Given the description of an element on the screen output the (x, y) to click on. 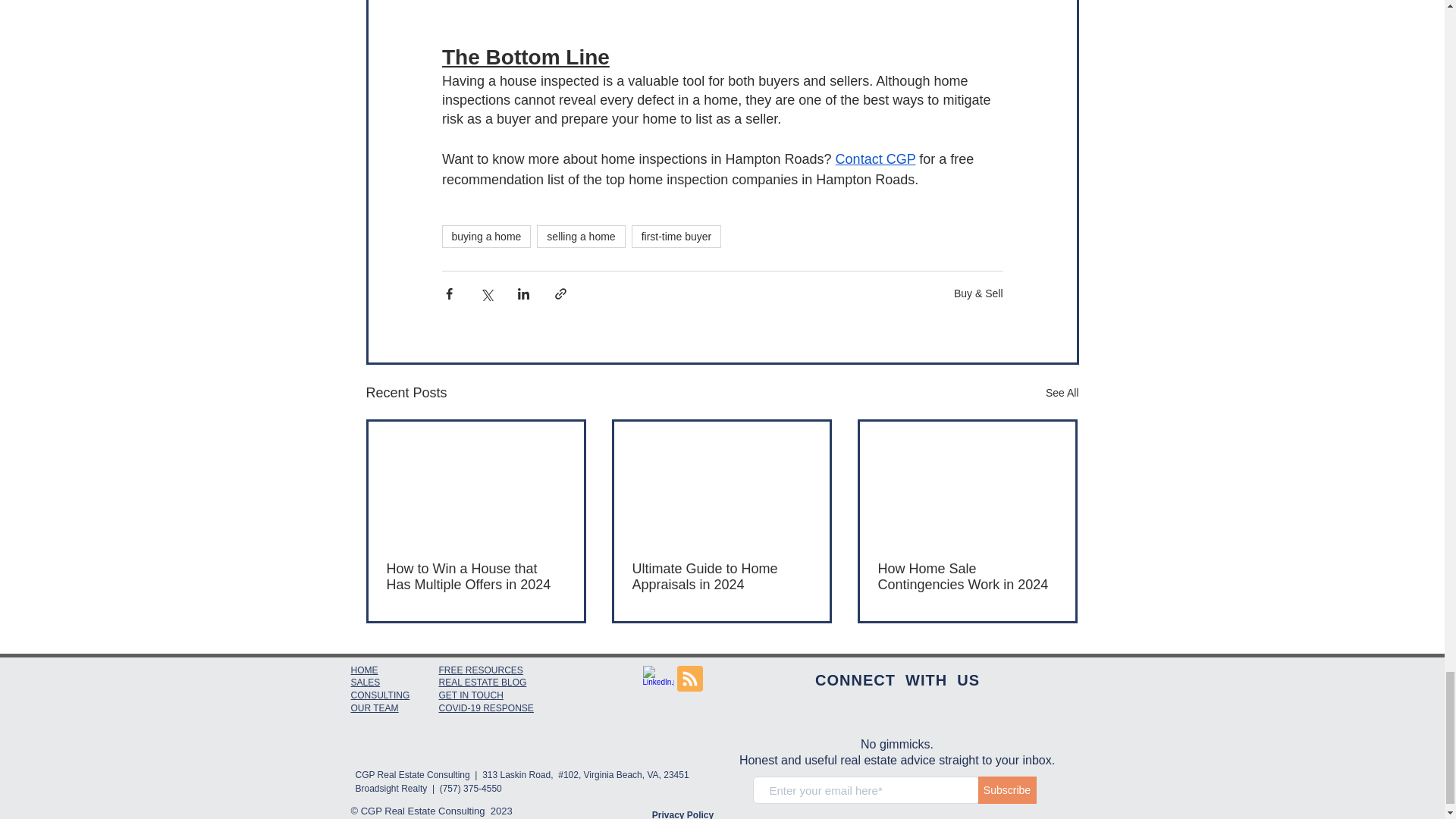
selling a home (580, 236)
buying a home (486, 236)
first-time buyer (676, 236)
Contact CGP (874, 159)
